Given the description of an element on the screen output the (x, y) to click on. 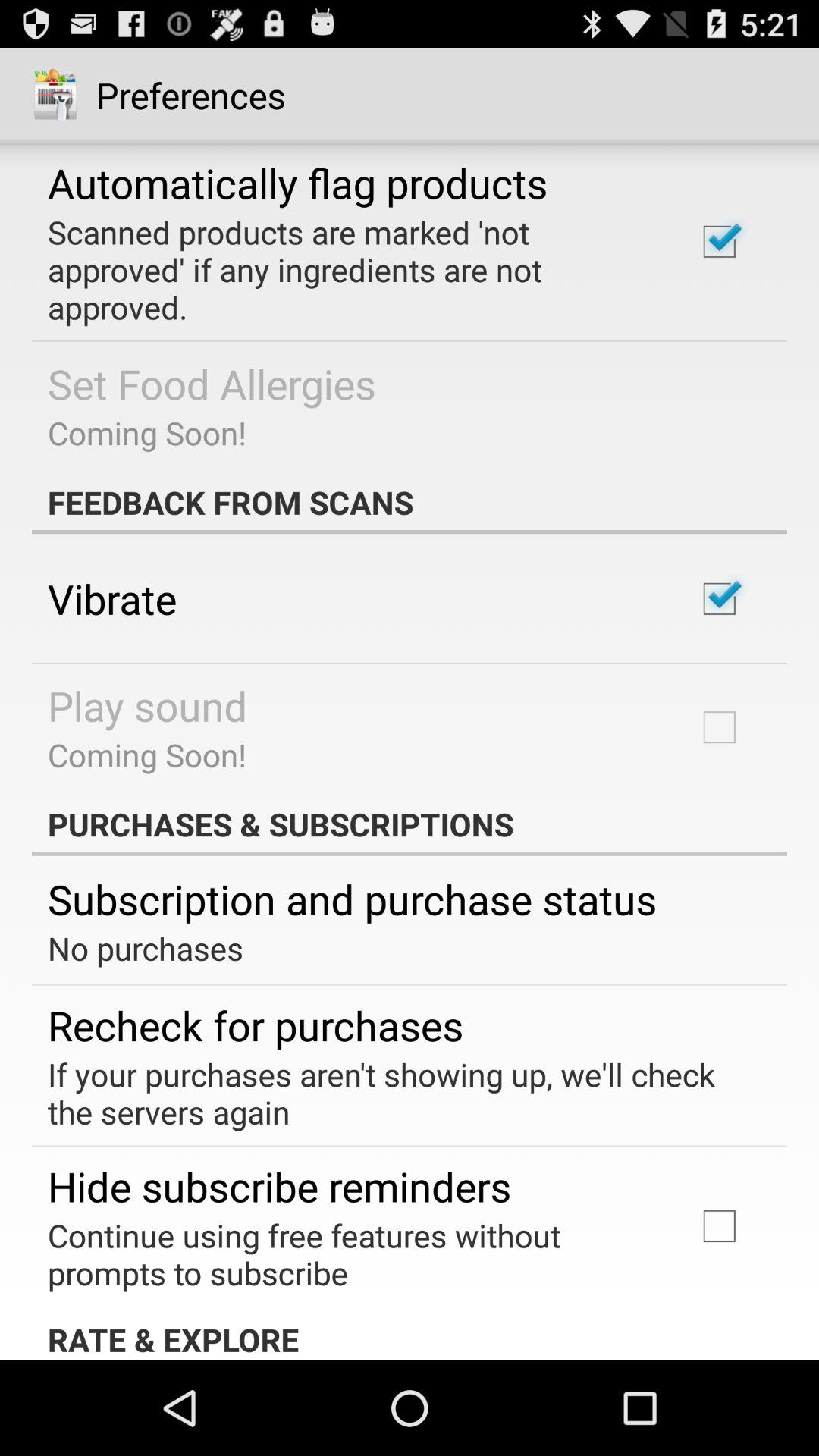
click the app above the subscription and purchase icon (409, 823)
